Given the description of an element on the screen output the (x, y) to click on. 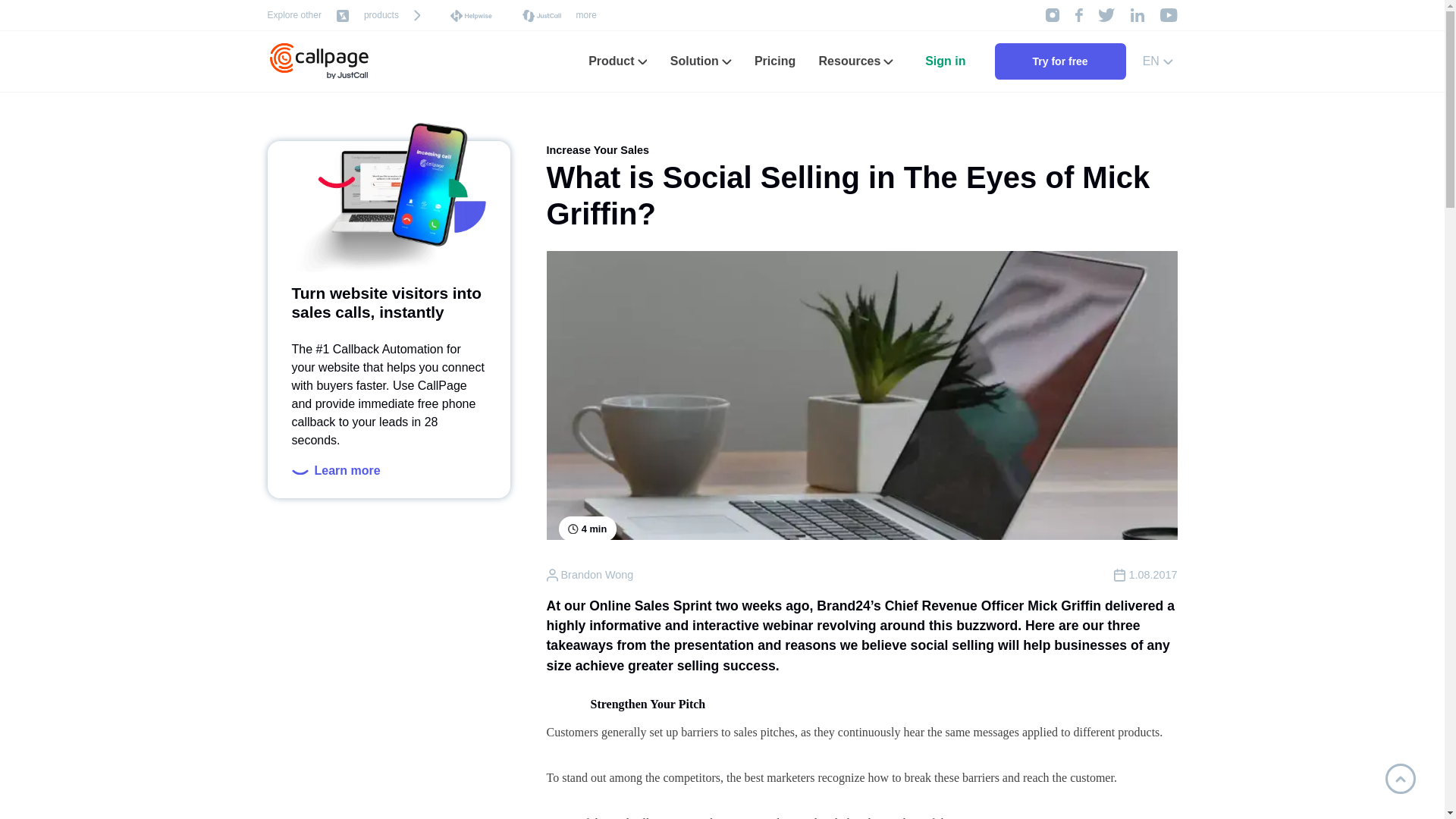
Pricing (774, 61)
Solution (700, 61)
Sign in (944, 61)
Resources (855, 61)
Increase Your Sales (596, 150)
Product (617, 61)
more (586, 15)
EN (1157, 61)
Try for free (1059, 61)
